Given the description of an element on the screen output the (x, y) to click on. 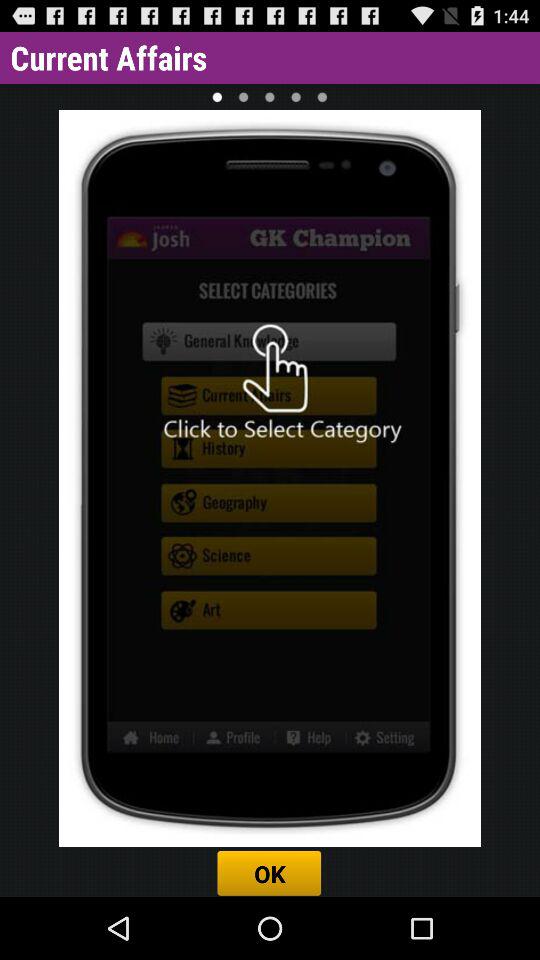
launch item below the current affairs icon (217, 96)
